Given the description of an element on the screen output the (x, y) to click on. 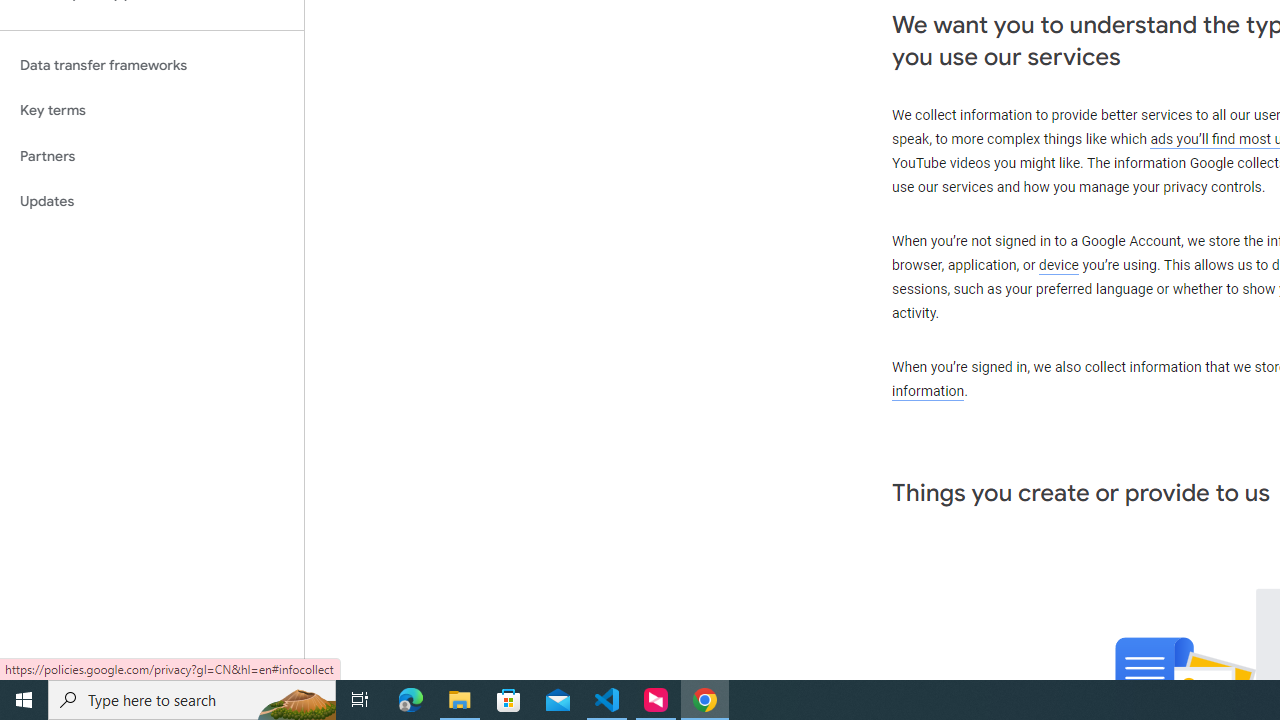
device (1059, 265)
